Given the description of an element on the screen output the (x, y) to click on. 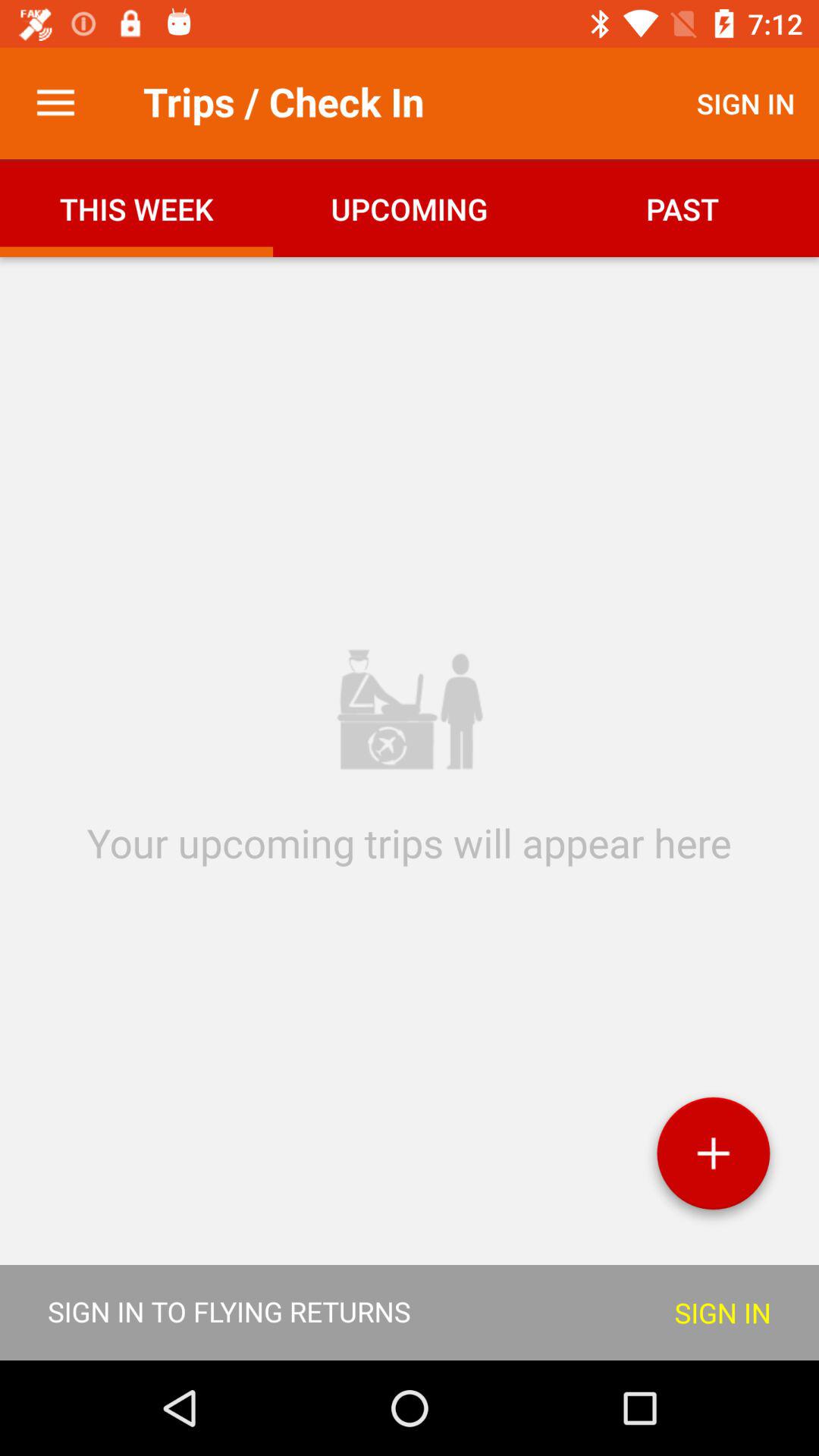
add a trip (713, 1159)
